Given the description of an element on the screen output the (x, y) to click on. 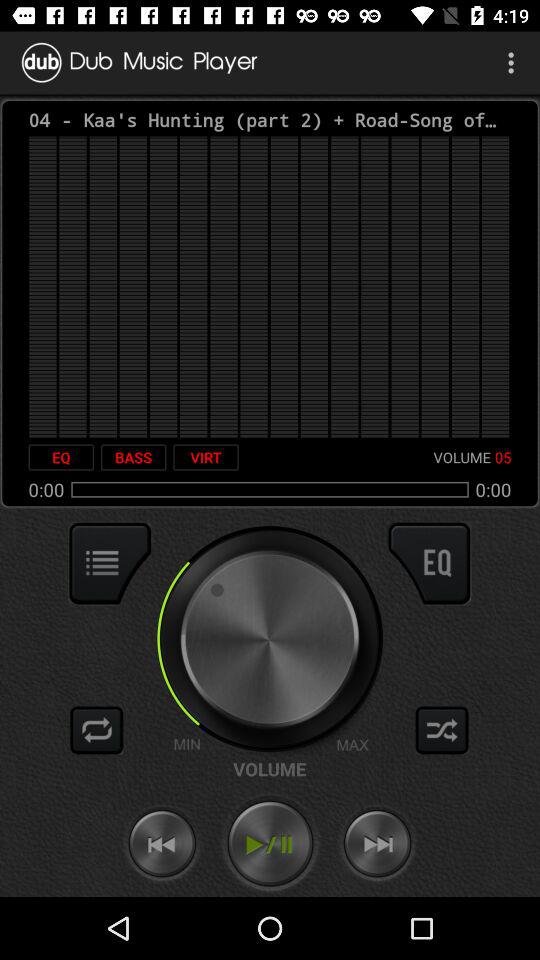
tap icon next to the volume icon (205, 457)
